Given the description of an element on the screen output the (x, y) to click on. 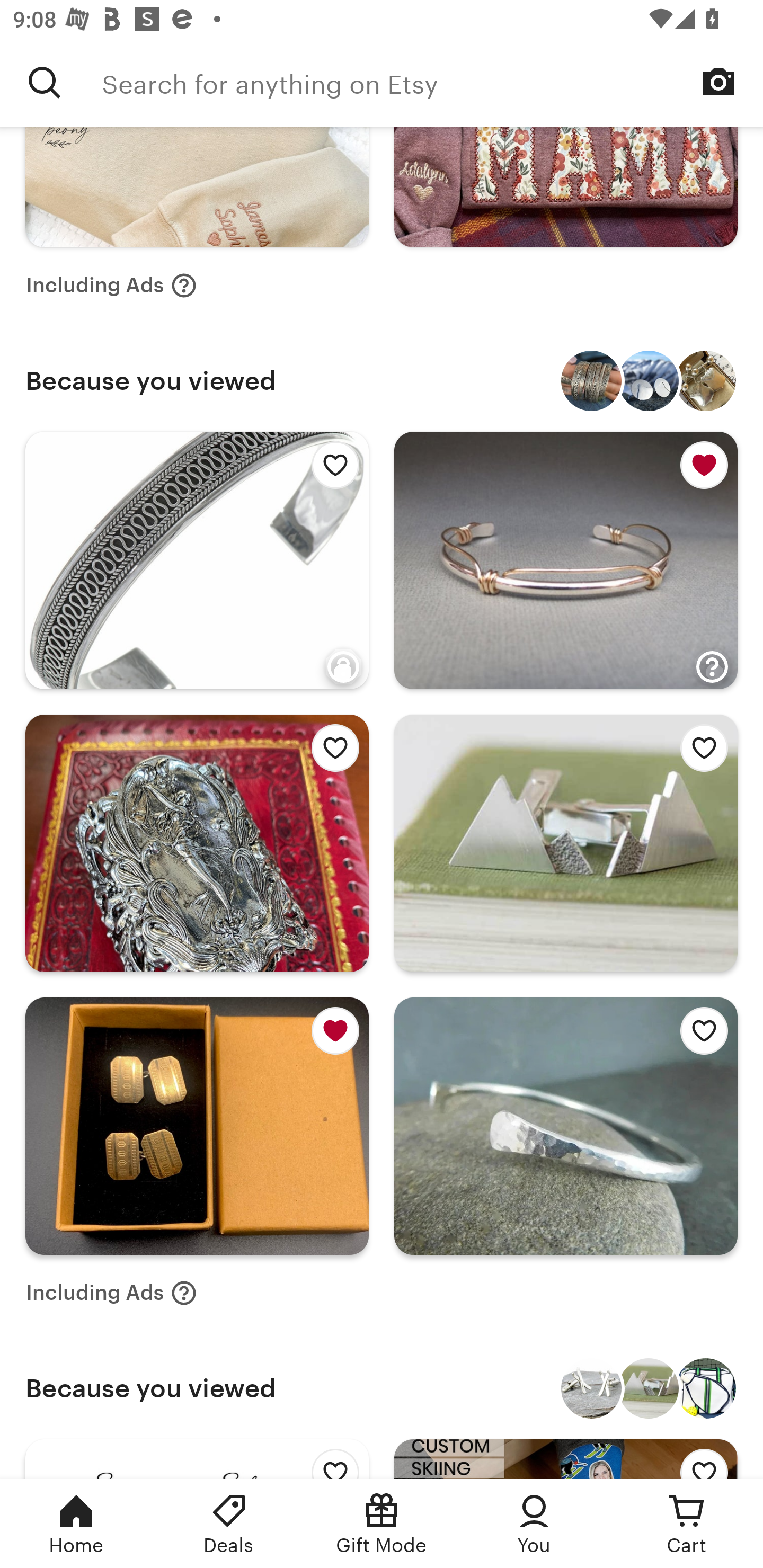
Search for anything on Etsy (44, 82)
Search by image (718, 81)
Search for anything on Etsy (432, 82)
Including Ads (111, 285)
Including Ads (111, 1292)
Personalised Ski Skiing Silver Cufflinks (591, 1388)
Deals (228, 1523)
Gift Mode (381, 1523)
You (533, 1523)
Cart (686, 1523)
